Given the description of an element on the screen output the (x, y) to click on. 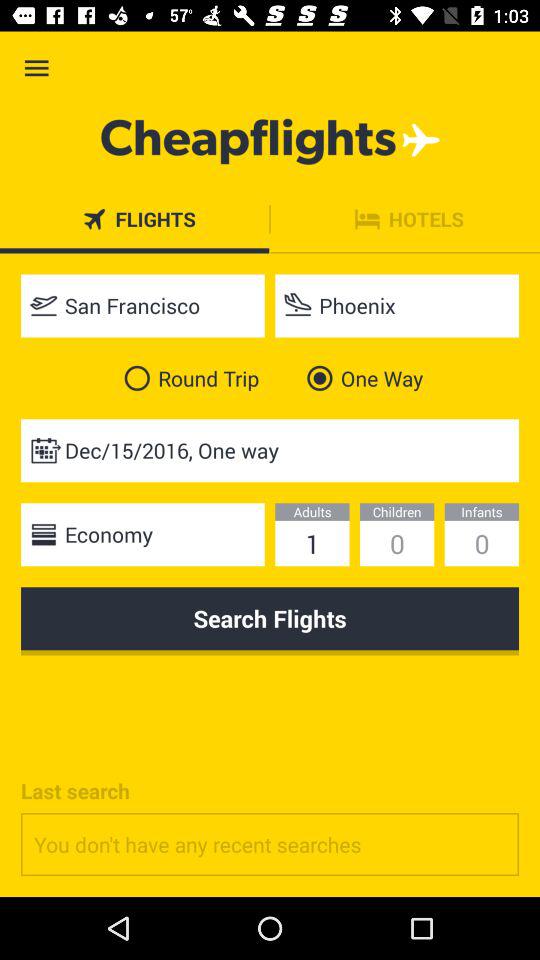
choose item next to the san francisco item (397, 305)
